Given the description of an element on the screen output the (x, y) to click on. 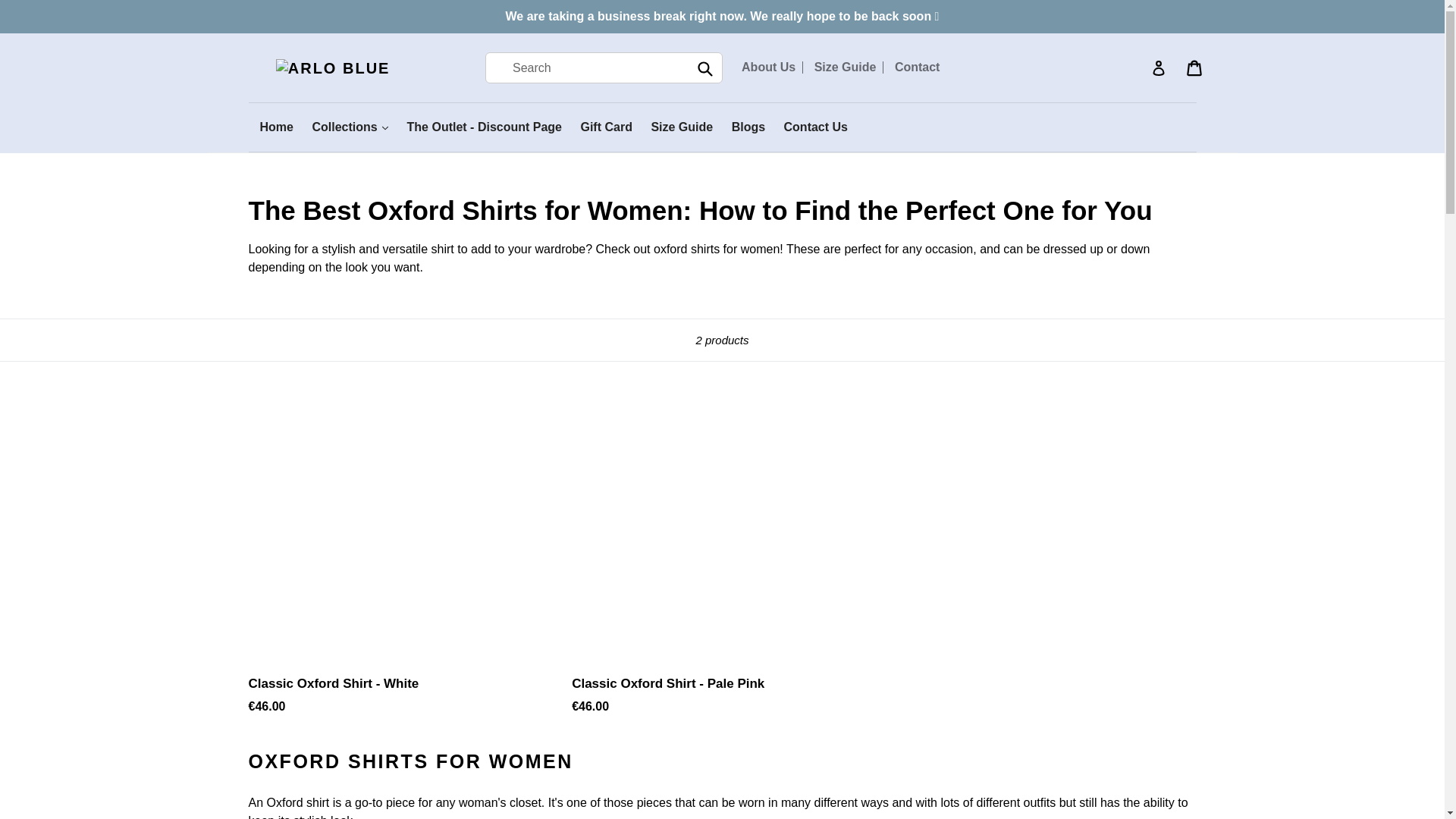
Home (275, 127)
About Us (768, 67)
Contact (916, 67)
Size Guide (844, 67)
